Given the description of an element on the screen output the (x, y) to click on. 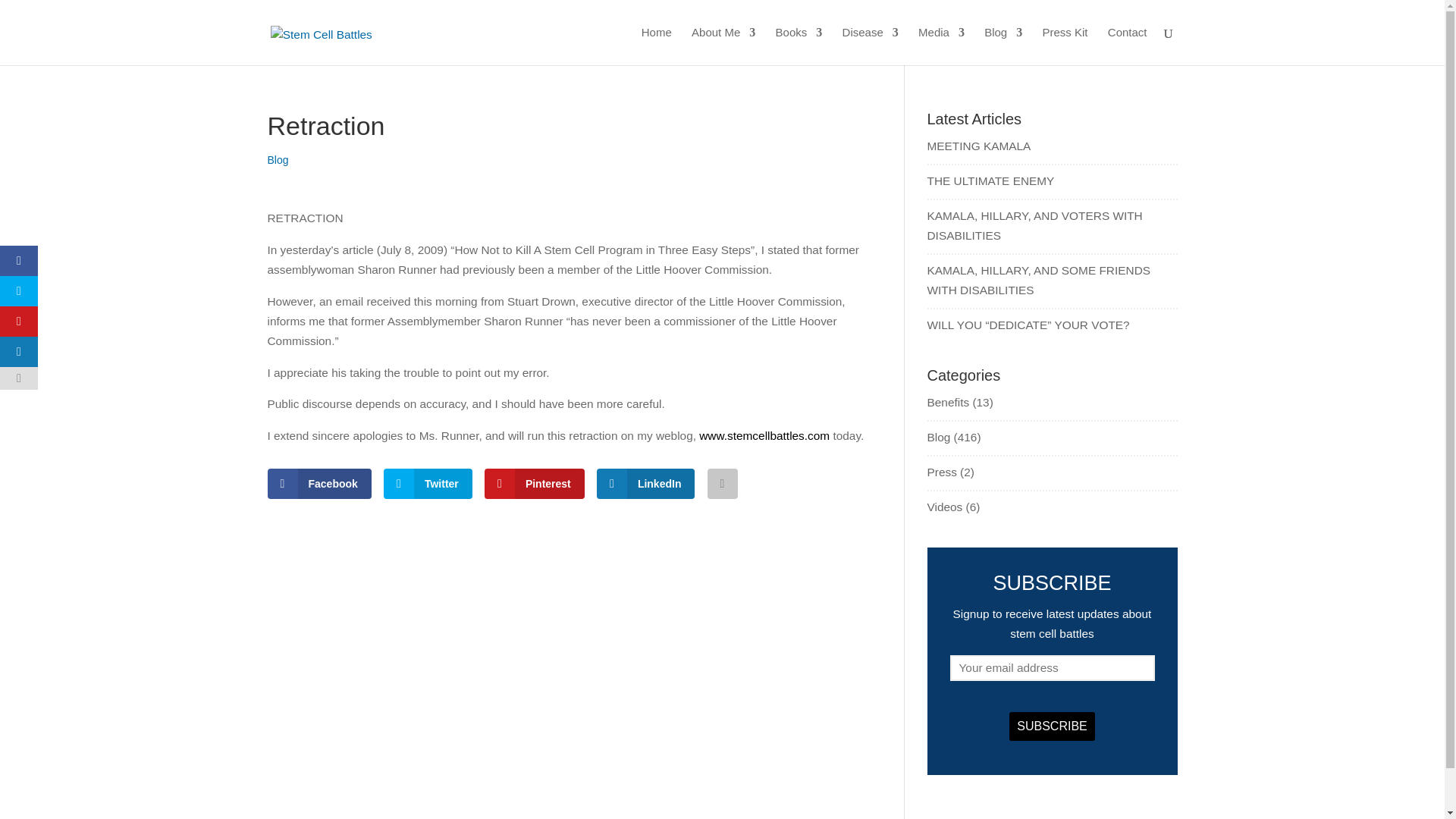
THE ULTIMATE ENEMY (990, 180)
SUBSCRIBE (1051, 726)
SUBSCRIBE (1051, 726)
Blog (1003, 46)
Media (940, 46)
Facebook (318, 483)
KAMALA, HILLARY, AND VOTERS WITH DISABILITIES (1033, 225)
Press (941, 472)
KAMALA, HILLARY, AND SOME FRIENDS WITH DISABILITIES (1038, 279)
MEETING KAMALA (978, 145)
